Given the description of an element on the screen output the (x, y) to click on. 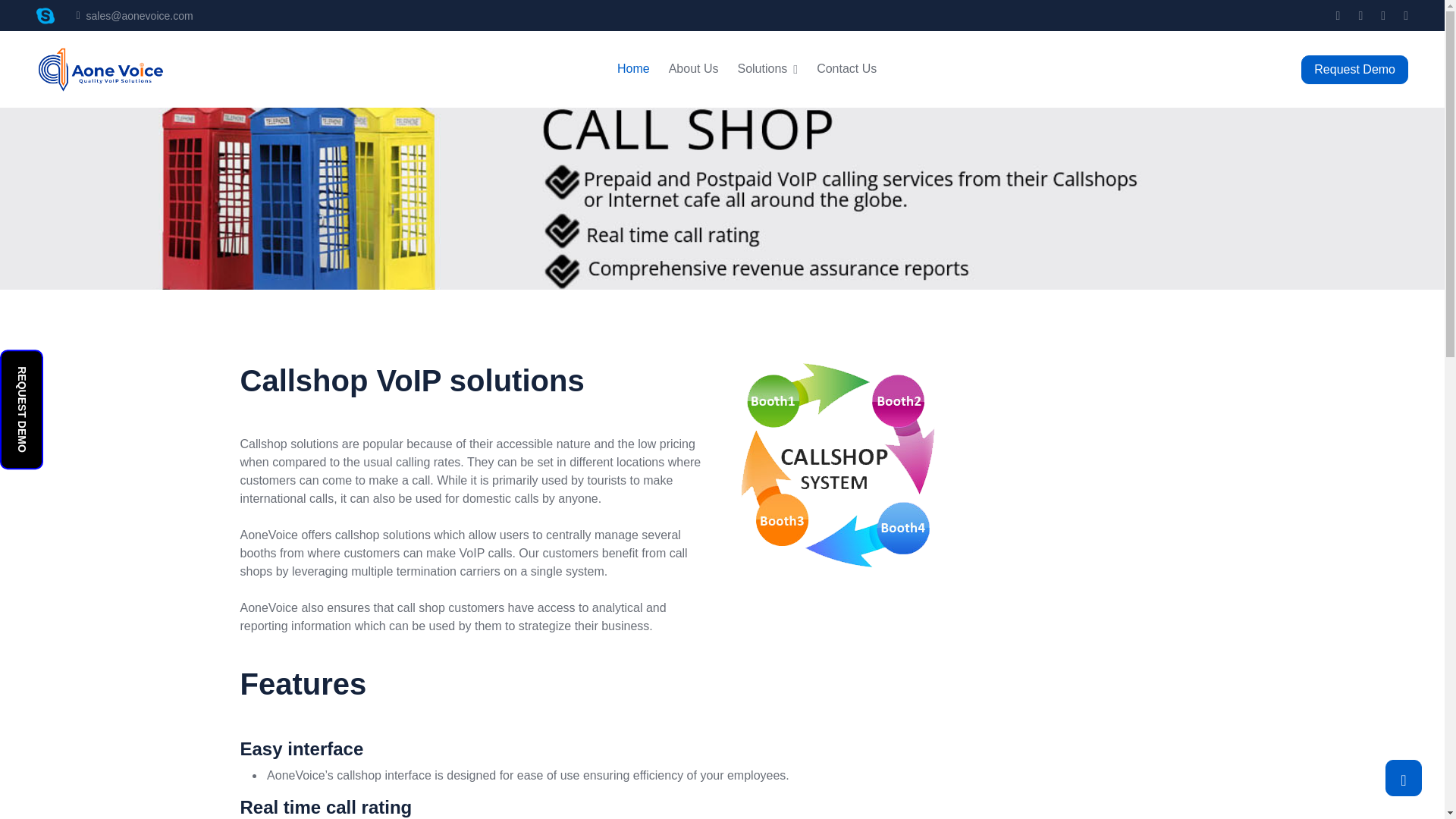
Contact Us (846, 69)
Request Demo (1354, 69)
Solutions (766, 69)
Home (633, 69)
About Us (693, 69)
